Given the description of an element on the screen output the (x, y) to click on. 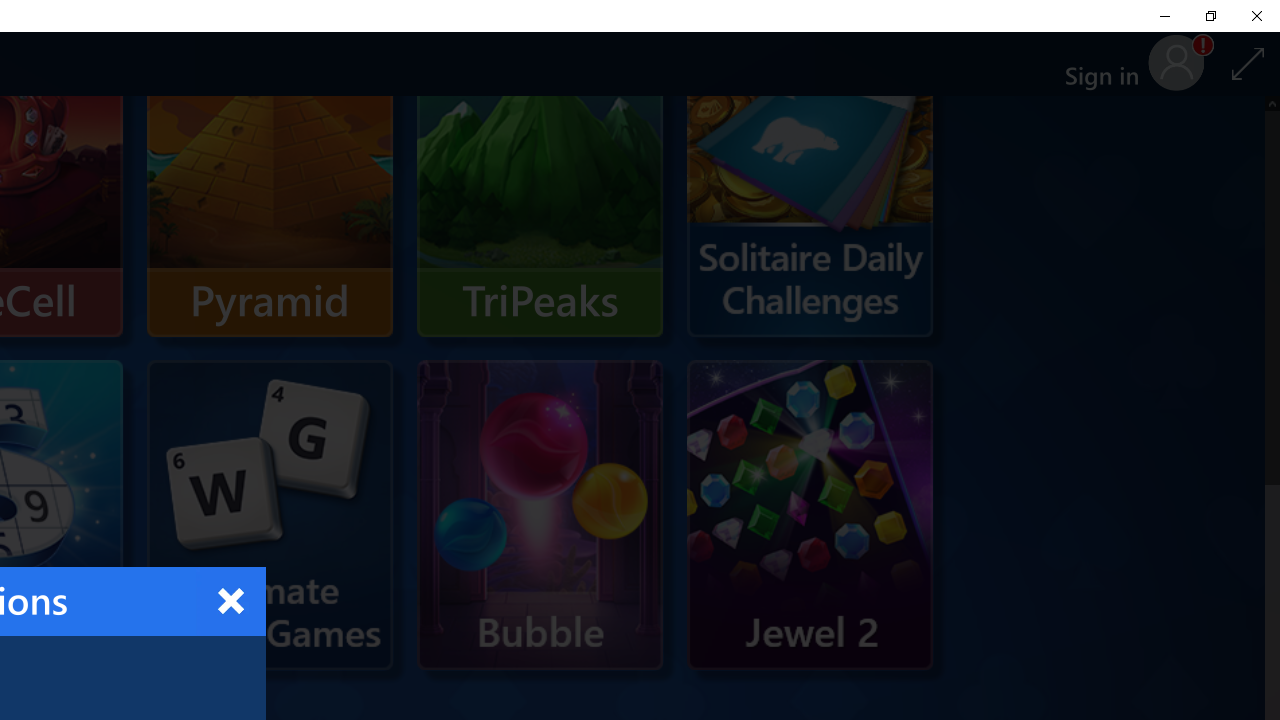
Microsoft Jewel 2 (810, 515)
Sign in (1109, 64)
Restore Solitaire & Casual Games (1210, 15)
TriPeaks (540, 181)
Close Solitaire & Casual Games (1256, 15)
Microsoft Bubble (540, 515)
AutomationID: up_arrow_0 (1272, 102)
Full Screen View (1248, 63)
Pyramid (269, 181)
Challenges (810, 181)
Close (230, 601)
Microsoft UWG (269, 463)
Minimize Solitaire & Casual Games (1164, 15)
